Given the description of an element on the screen output the (x, y) to click on. 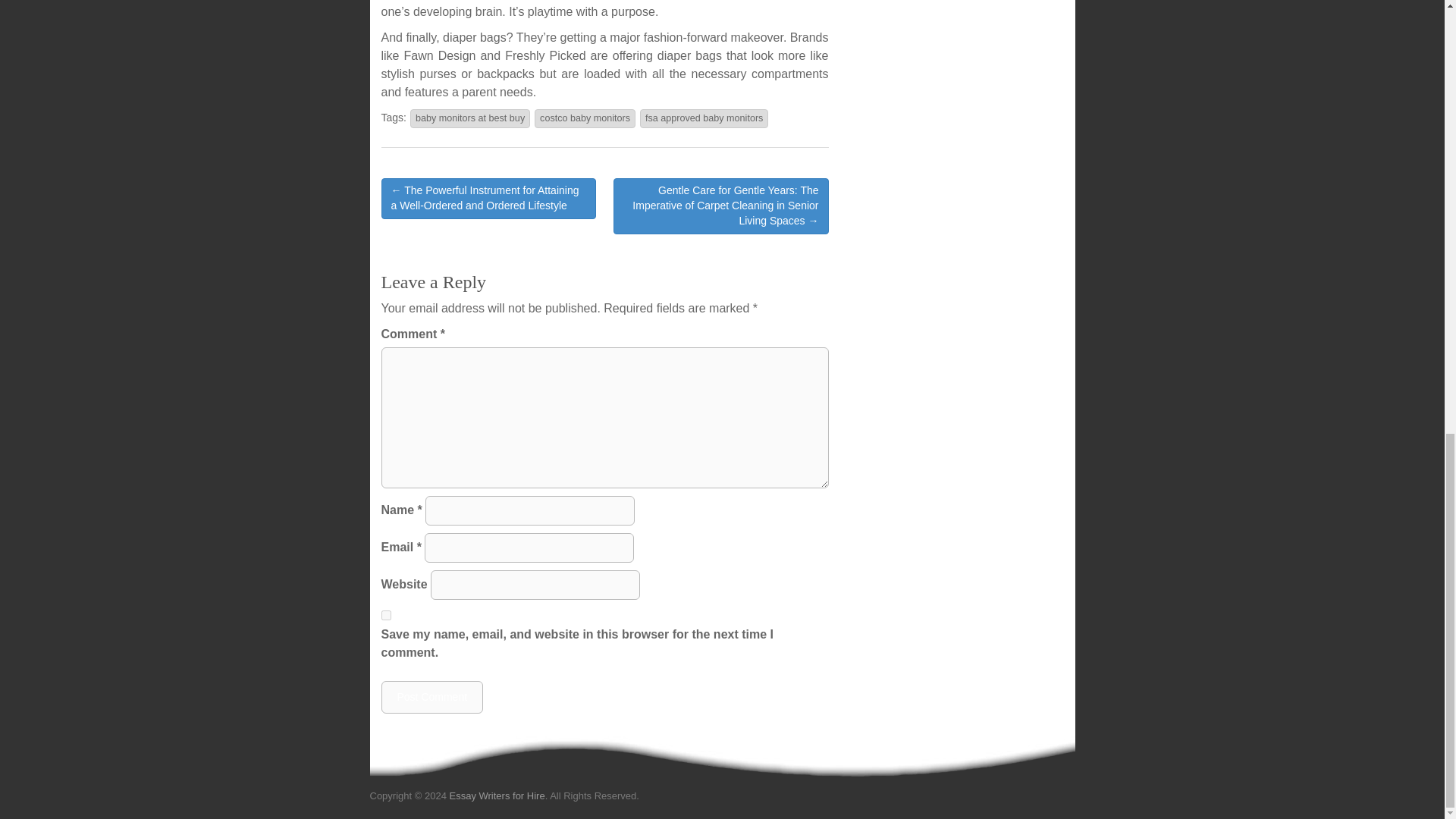
fsa approved baby monitors (704, 117)
yes (385, 614)
costco baby monitors (584, 117)
Post Comment (431, 696)
Post Comment (431, 696)
baby monitors at best buy (469, 117)
